Given the description of an element on the screen output the (x, y) to click on. 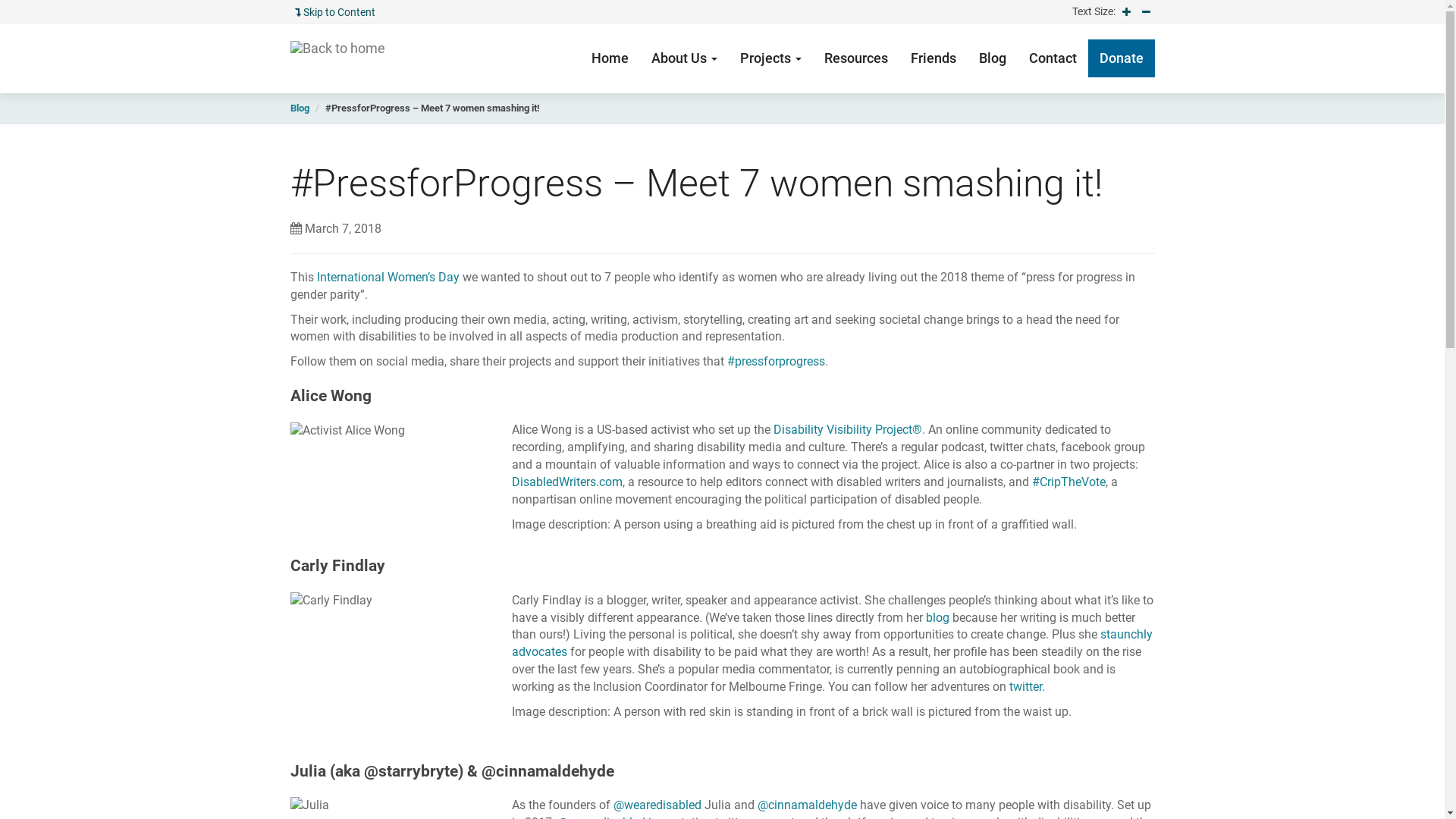
Projects Element type: text (770, 58)
 twitter. Element type: text (1025, 686)
Friends Element type: text (933, 58)
blog Element type: text (937, 617)
Contact Element type: text (1052, 58)
#pressforprogress Element type: text (775, 361)
Home Element type: text (609, 58)
Resources Element type: text (855, 58)
About Us Element type: text (684, 58)
Blog Element type: text (298, 107)
DisabledWriters.com Element type: text (566, 481)
#CripTheVote Element type: text (1068, 481)
Blog Element type: text (992, 58)
staunchly advocates Element type: text (831, 642)
Donate Element type: text (1120, 58)
@cinnamaldehyde Element type: text (806, 804)
@wearedisabled Element type: text (657, 804)
Skip to Content   Element type: text (336, 12)
